Given the description of an element on the screen output the (x, y) to click on. 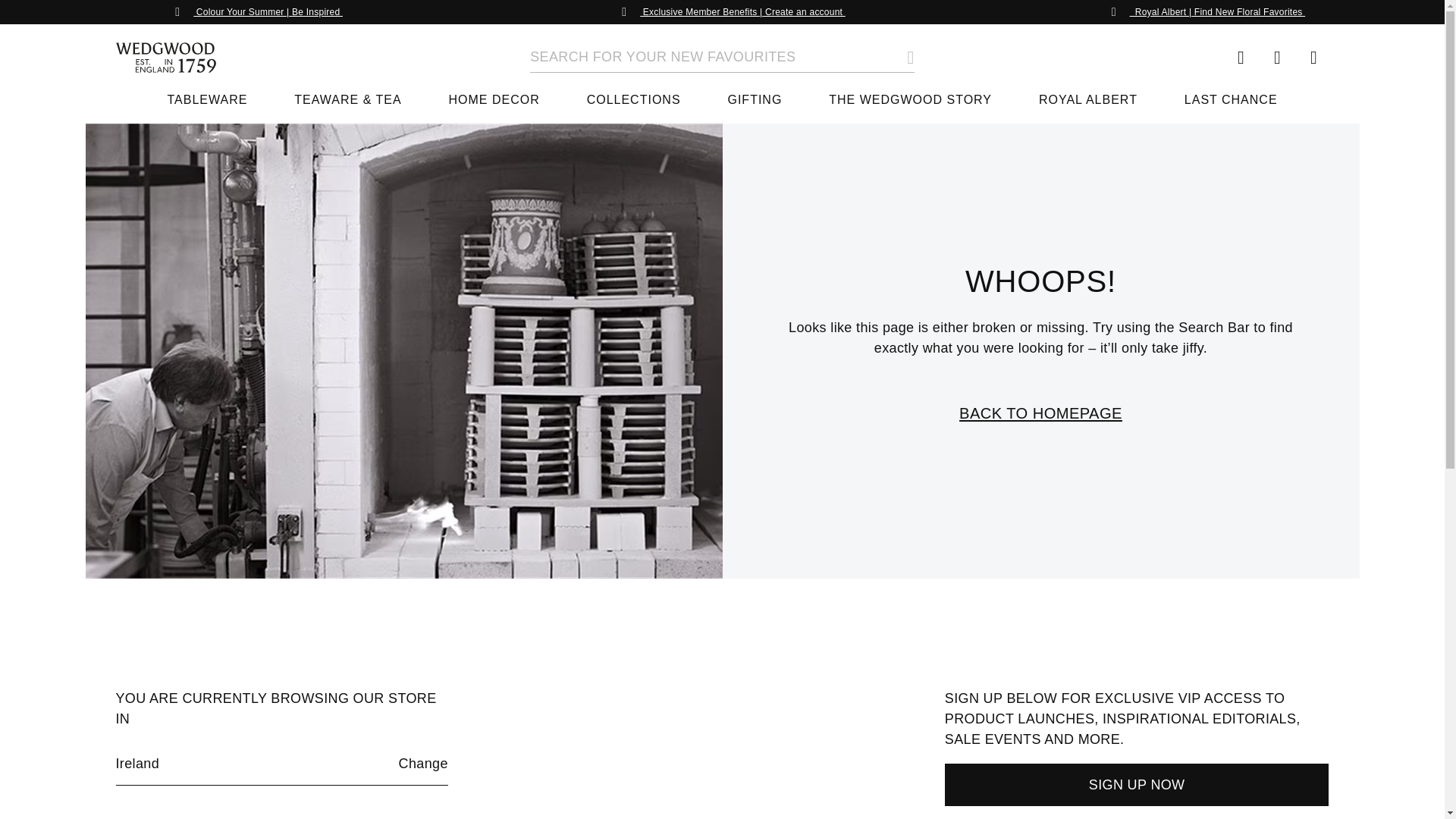
Shopping cart (1313, 57)
Login (1277, 57)
TABLEWARE (207, 106)
Global gateway (1240, 57)
